Given the description of an element on the screen output the (x, y) to click on. 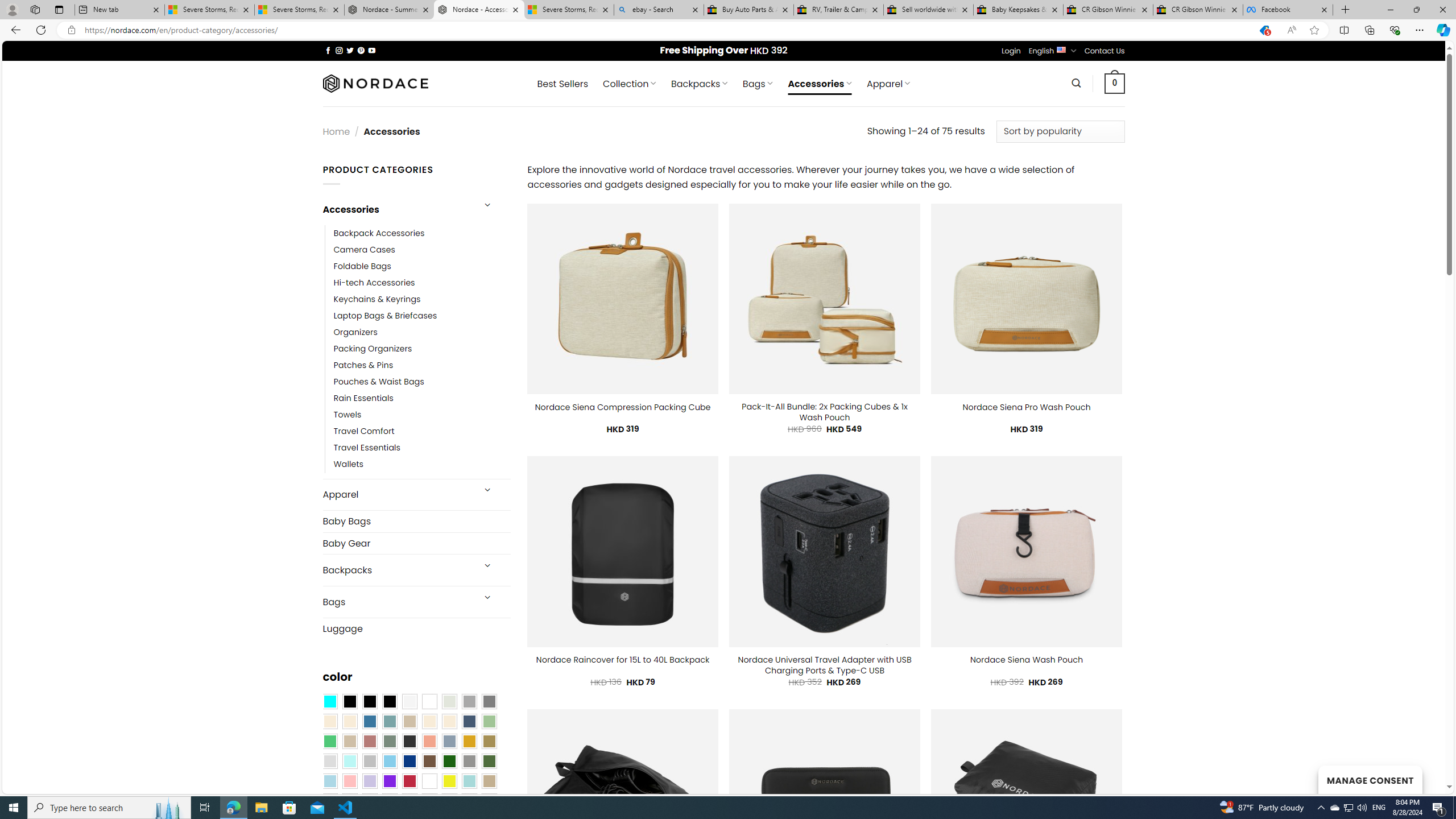
Nordace Siena Pro Wash Pouch (1026, 406)
Red (408, 780)
Luggage (416, 628)
Packing Organizers (372, 348)
Foldable Bags (362, 265)
Split screen (1344, 29)
Settings and more (Alt+F) (1419, 29)
Yellow (449, 780)
Aqua Blue (329, 701)
Clear (429, 701)
Close (1442, 9)
Foldable Bags (422, 265)
Travel Comfort (363, 431)
Sage (389, 741)
Rain Essentials (422, 398)
